Given the description of an element on the screen output the (x, y) to click on. 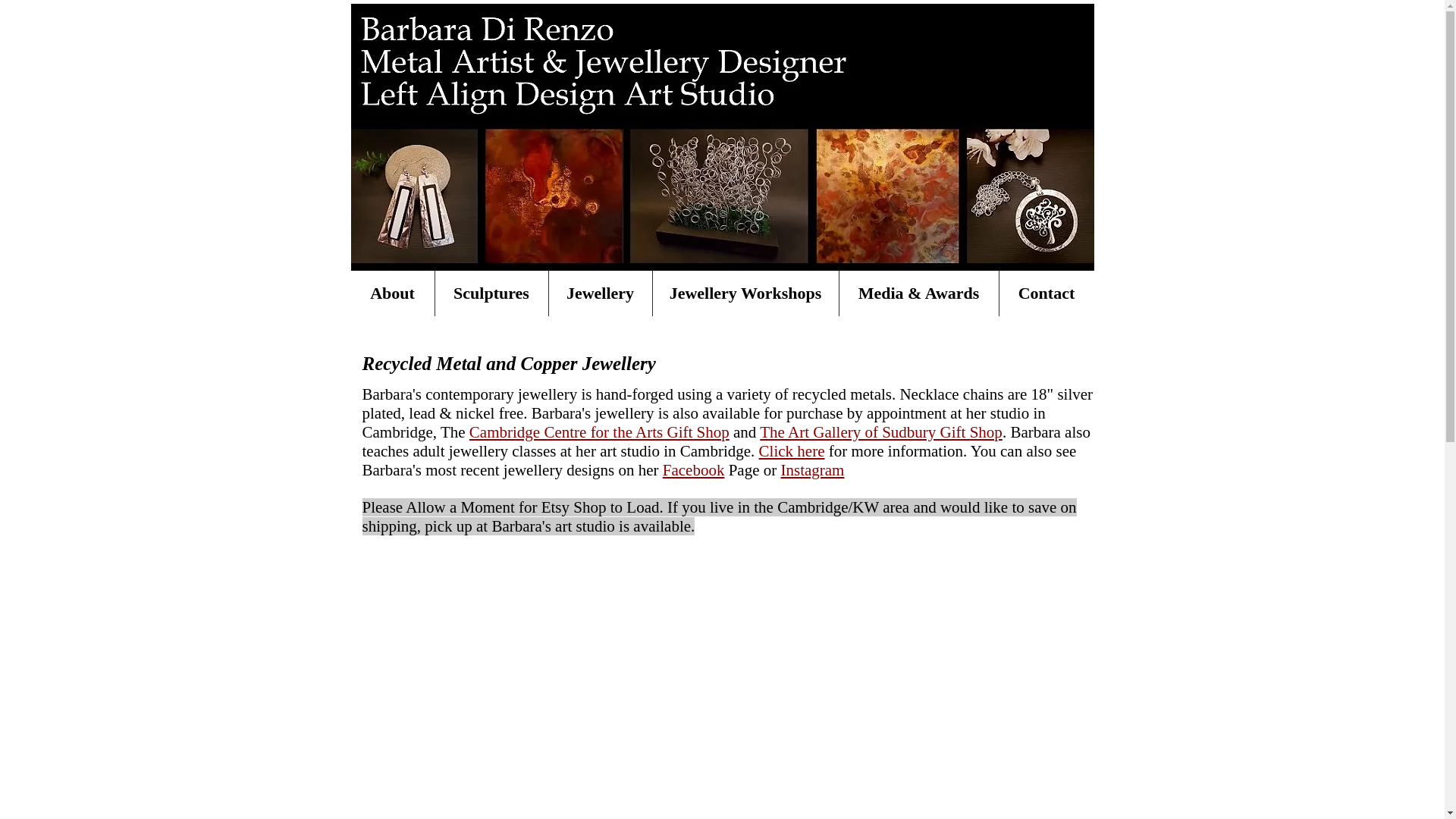
Instagram (812, 470)
Click here (791, 451)
Jewellery (600, 293)
The Art Gallery of Sudbury Gift Shop (881, 432)
Facebook (693, 470)
Jewellery Workshops (745, 293)
Sculptures (491, 293)
Contact (1046, 293)
Cambridge Centre for the Arts Gift Shop (598, 432)
About (391, 293)
